Given the description of an element on the screen output the (x, y) to click on. 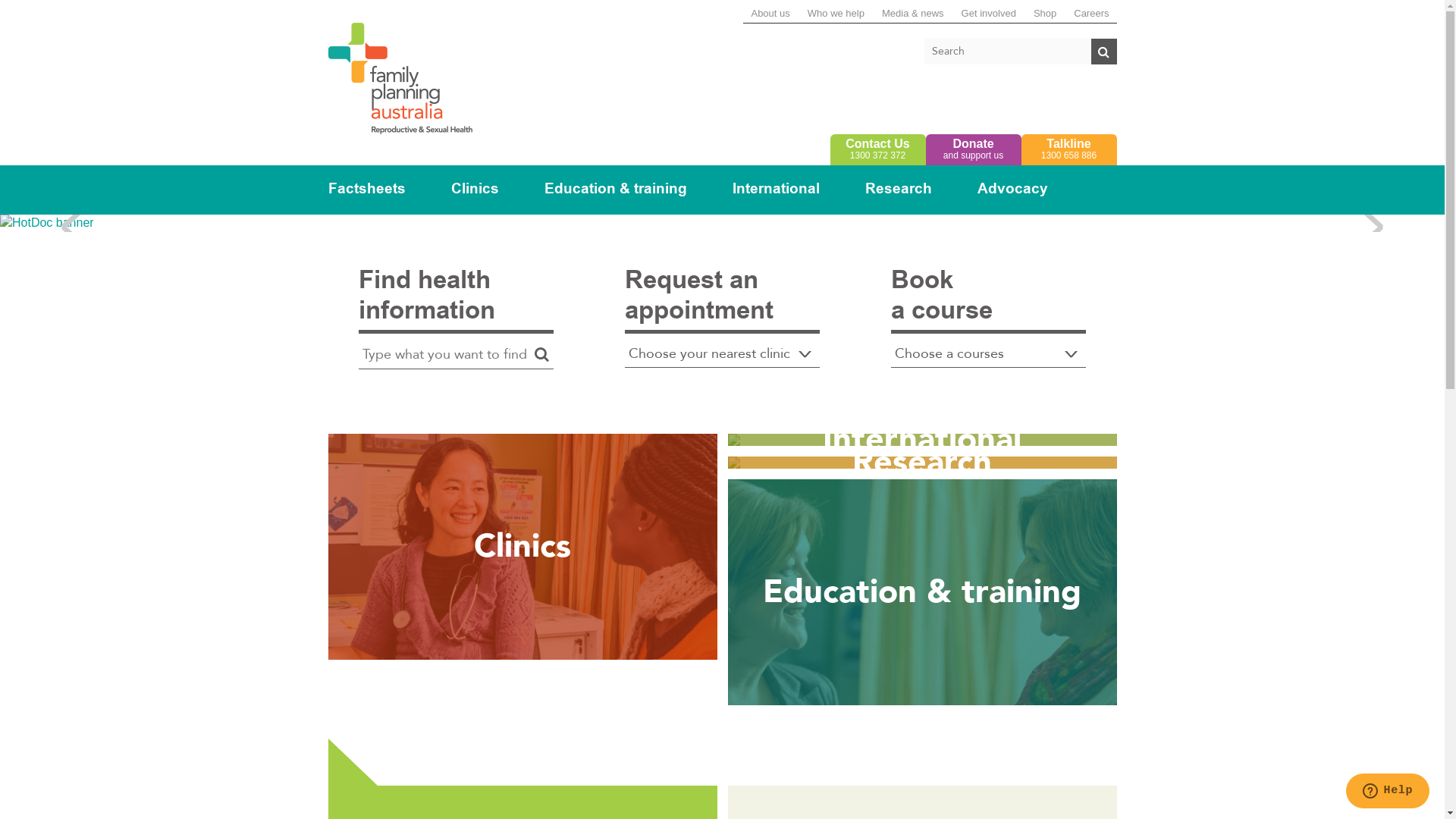
Get involved Element type: text (988, 12)
Shop Element type: text (1044, 12)
International Element type: text (775, 188)
International Element type: text (922, 439)
About us Element type: text (769, 12)
Clinics Element type: text (521, 546)
Advocacy Element type: text (1011, 188)
Education & training Element type: text (922, 592)
Media & news Element type: text (912, 12)
Education & training Element type: text (615, 188)
Contact Us
1300 372 372 Element type: text (877, 150)
Opens a widget where you can chat to one of our agents Element type: hover (1387, 792)
Who we help Element type: text (835, 12)
Clinics Element type: text (473, 188)
Research Element type: text (922, 462)
Careers Element type: text (1090, 12)
Talkline
1300 658 886 Element type: text (1068, 150)
Research Element type: text (897, 188)
Donate
and support us Element type: text (972, 150)
Factsheets Element type: text (365, 188)
